Given the description of an element on the screen output the (x, y) to click on. 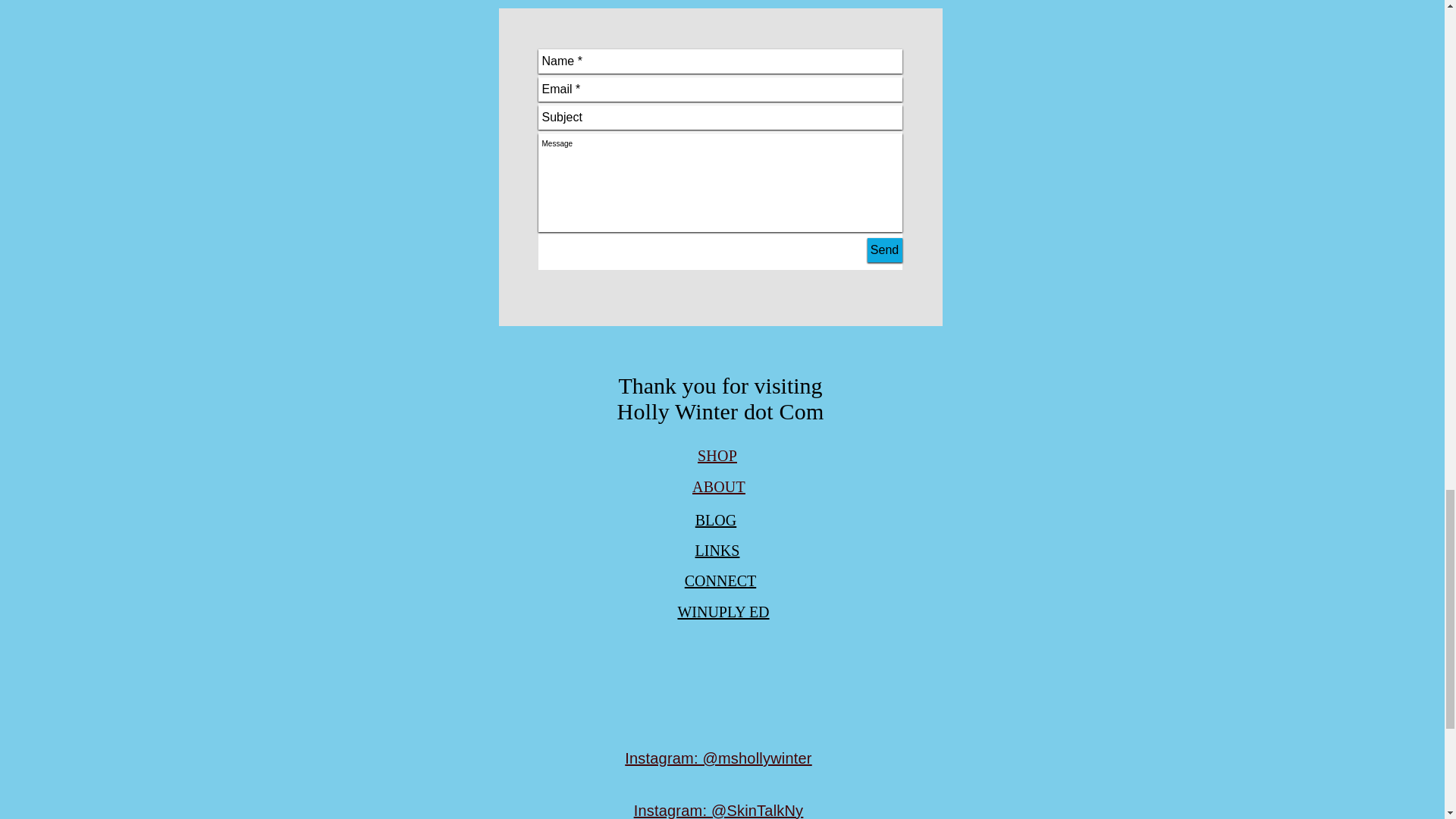
SHOP (716, 455)
Send (884, 250)
CONNECT (719, 580)
LINKS (717, 550)
WINUPLY ED (722, 611)
ABOUT (719, 486)
BLOG (715, 519)
